Given the description of an element on the screen output the (x, y) to click on. 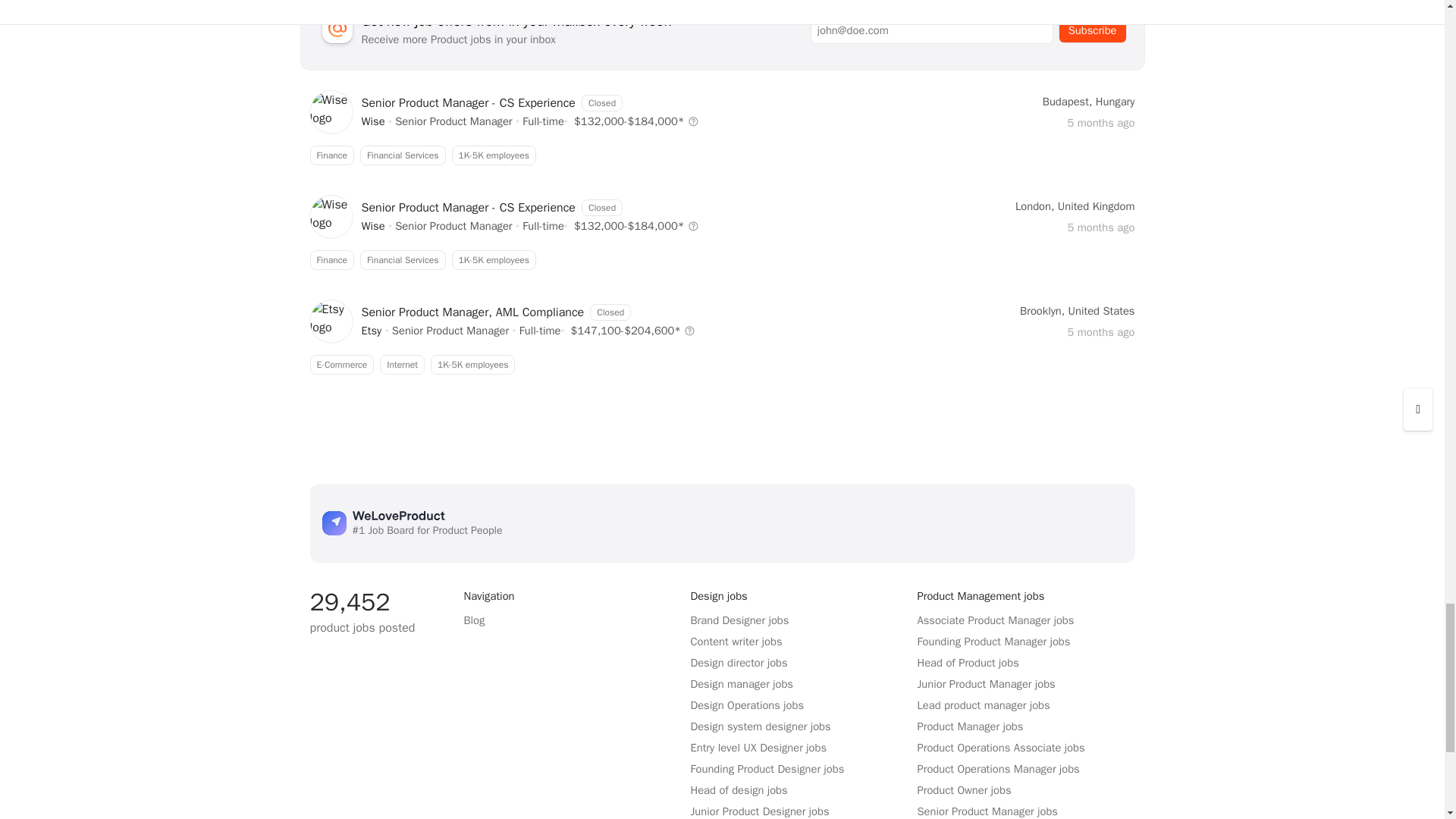
Senior Product Manager jobs at Wise (372, 225)
Senior Product Manager jobs (449, 330)
Senior Product Manager jobs (721, 155)
Senior Product Manager jobs at Etsy (721, 260)
Senior Product Manager jobs (453, 120)
Senior Product Manager jobs at Wise (371, 330)
